Given the description of an element on the screen output the (x, y) to click on. 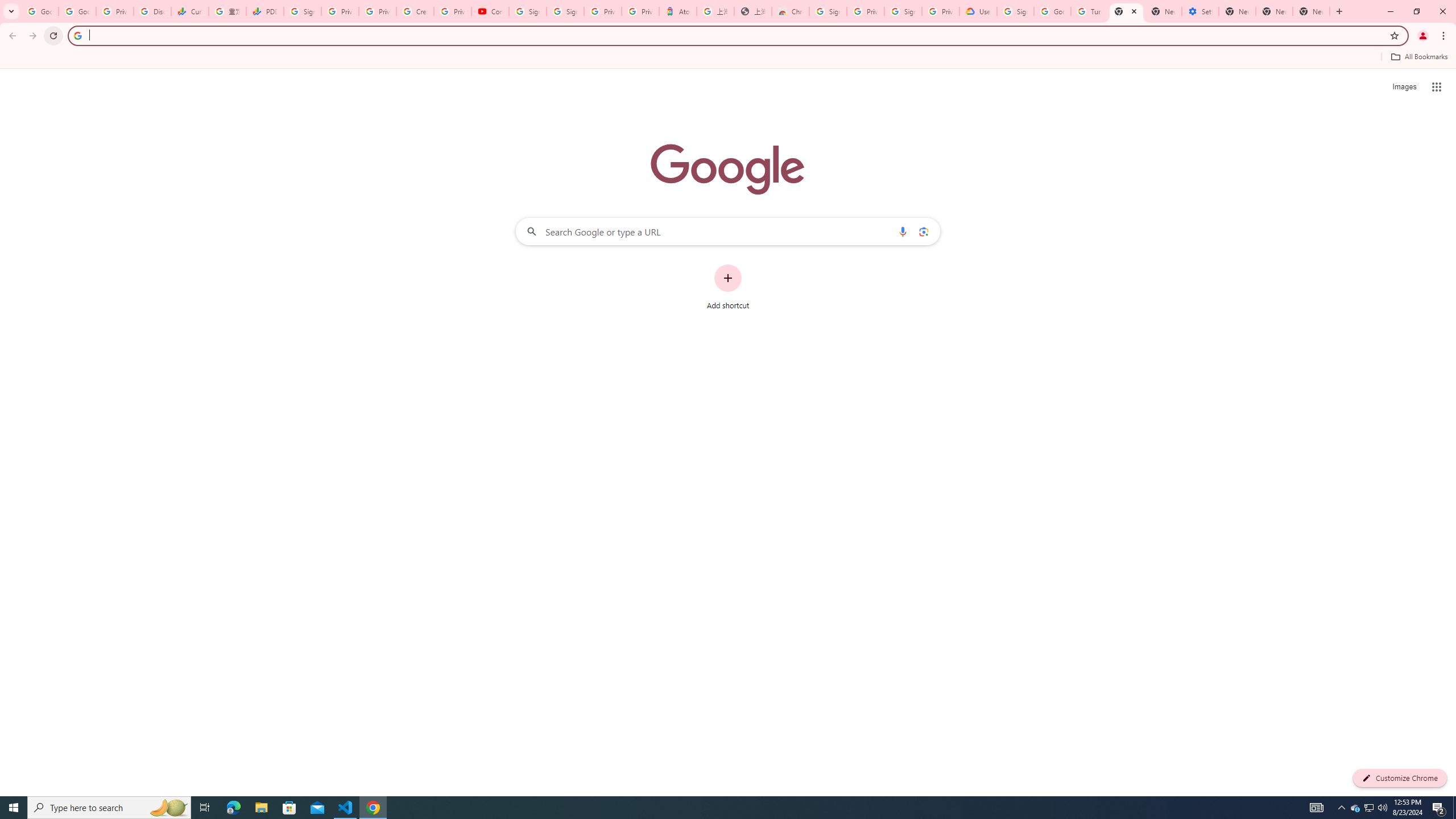
Content Creator Programs & Opportunities - YouTube Creators (489, 11)
Sign in - Google Accounts (903, 11)
New Tab (1126, 11)
